Given the description of an element on the screen output the (x, y) to click on. 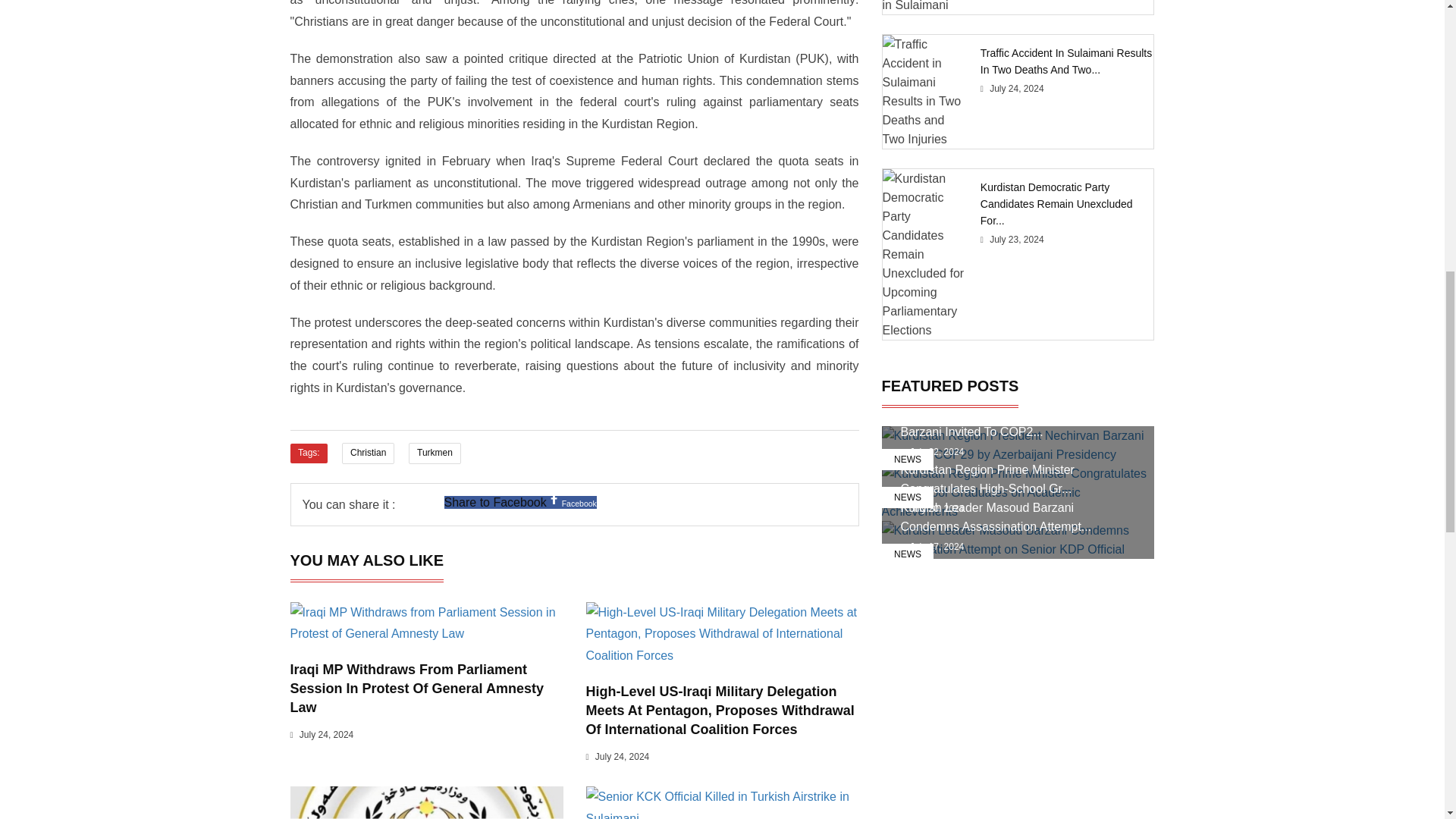
Tags: (307, 453)
Turkmen (434, 453)
Christian (367, 453)
Share to FacebookFacebookFacebook (520, 502)
Facebook (554, 498)
